Given the description of an element on the screen output the (x, y) to click on. 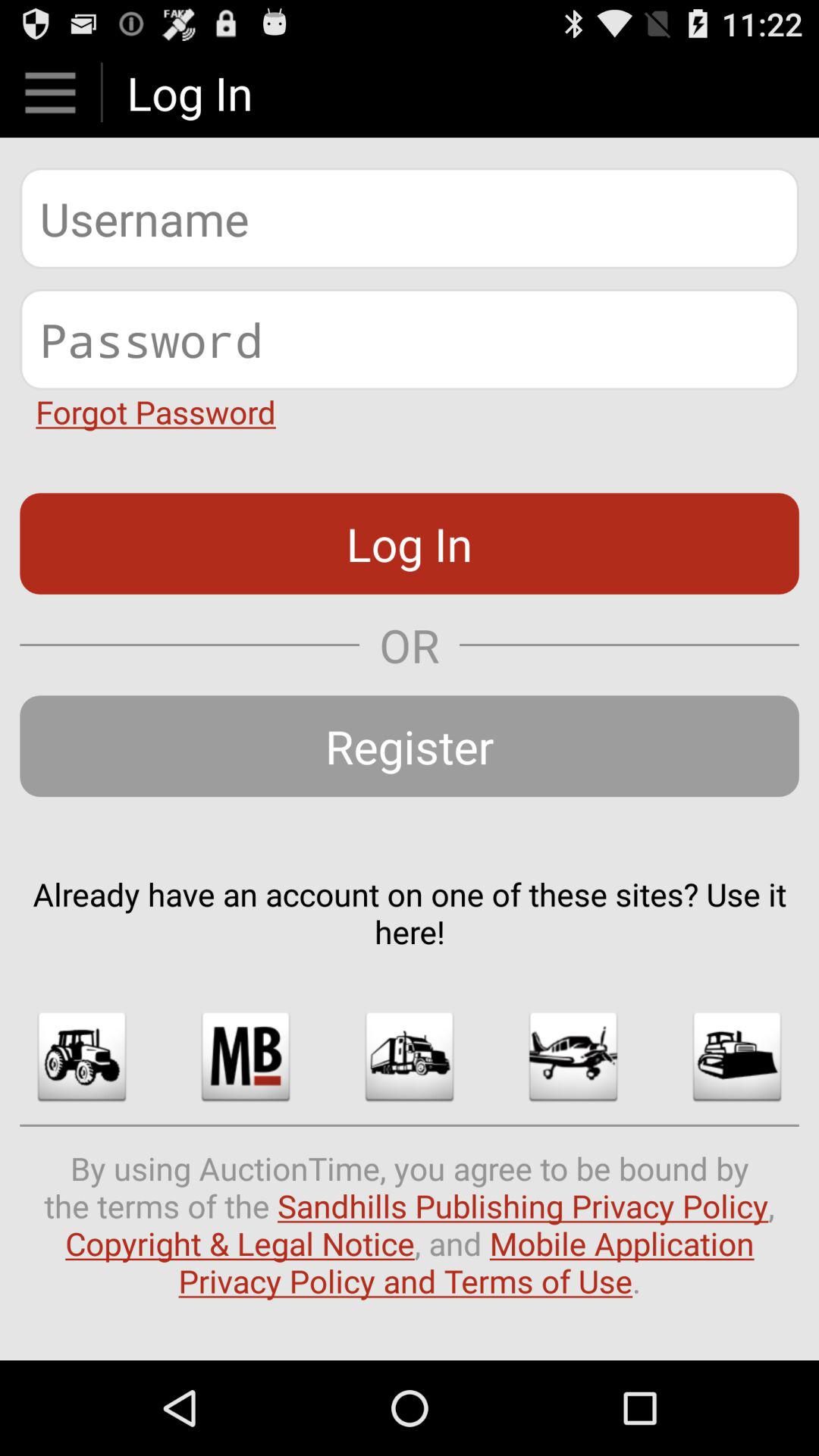
select the app below the already have an icon (245, 1056)
